Given the description of an element on the screen output the (x, y) to click on. 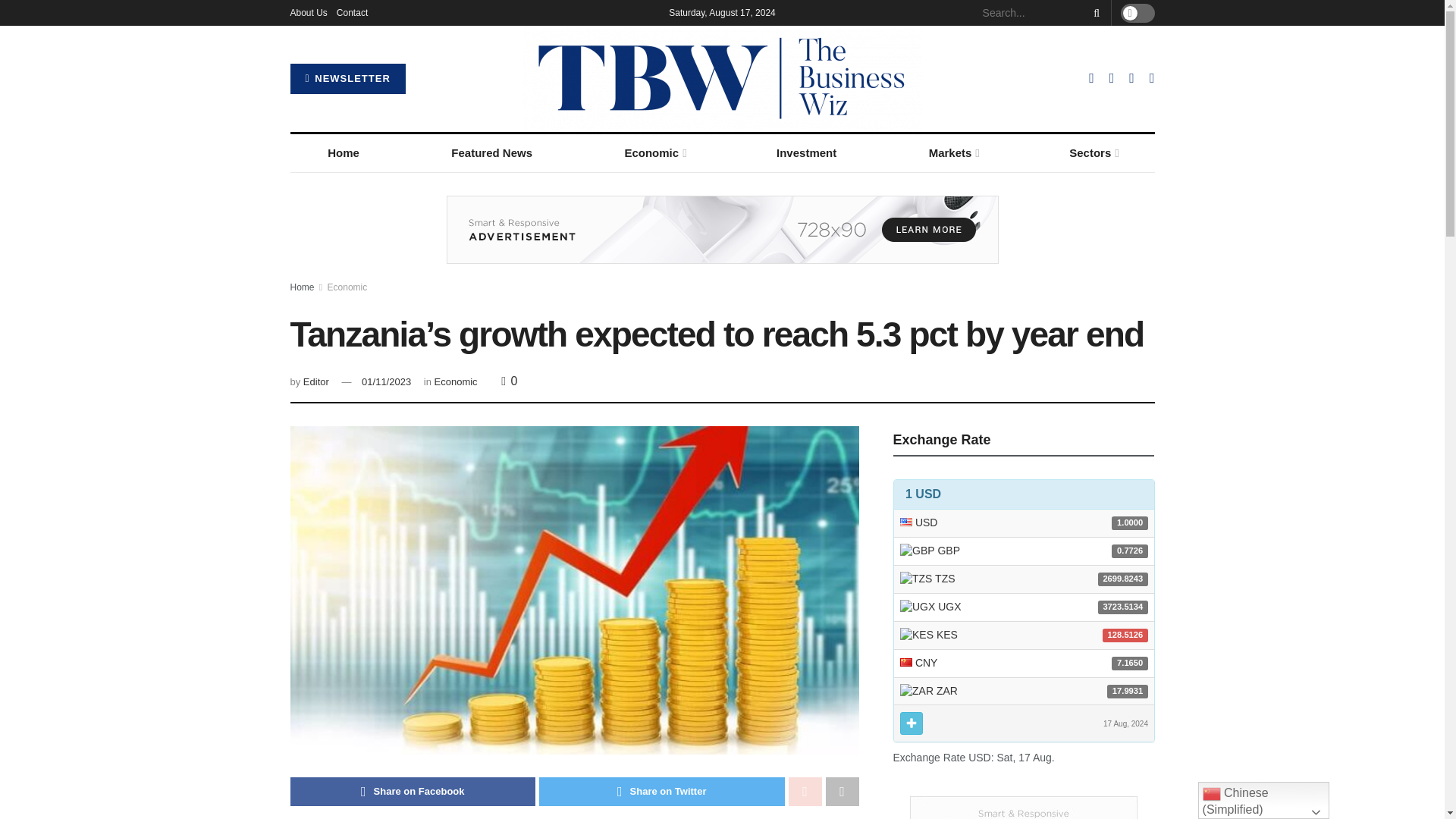
Contact (352, 12)
Sectors (1093, 152)
NEWSLETTER (346, 78)
Home (342, 152)
Investment (806, 152)
About Us (307, 12)
Markets (952, 152)
Exchange Rate: CurrencyRate.Today (1023, 611)
Economic (654, 152)
Featured News (491, 152)
